Given the description of an element on the screen output the (x, y) to click on. 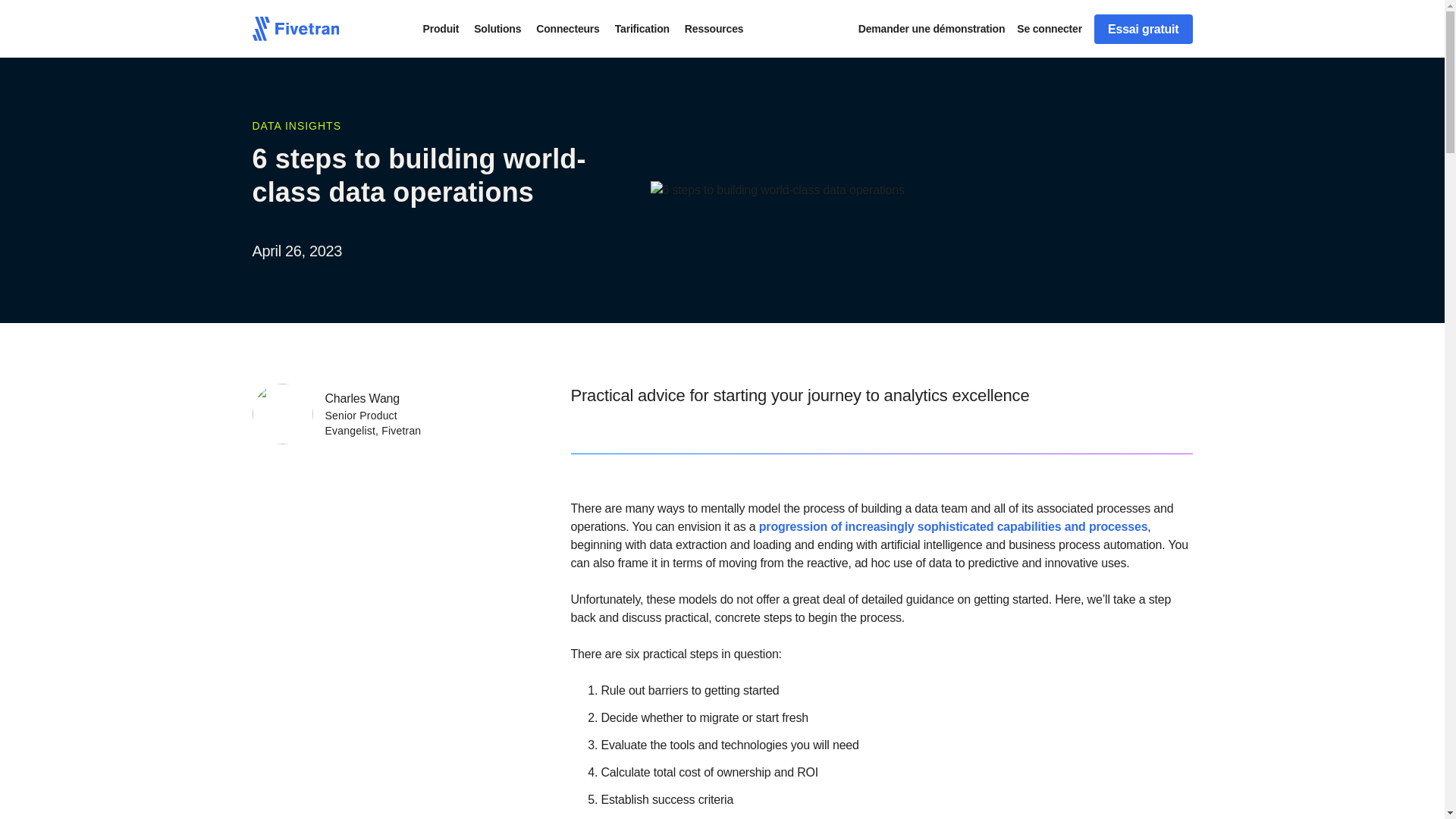
Connecteurs (567, 28)
